Given the description of an element on the screen output the (x, y) to click on. 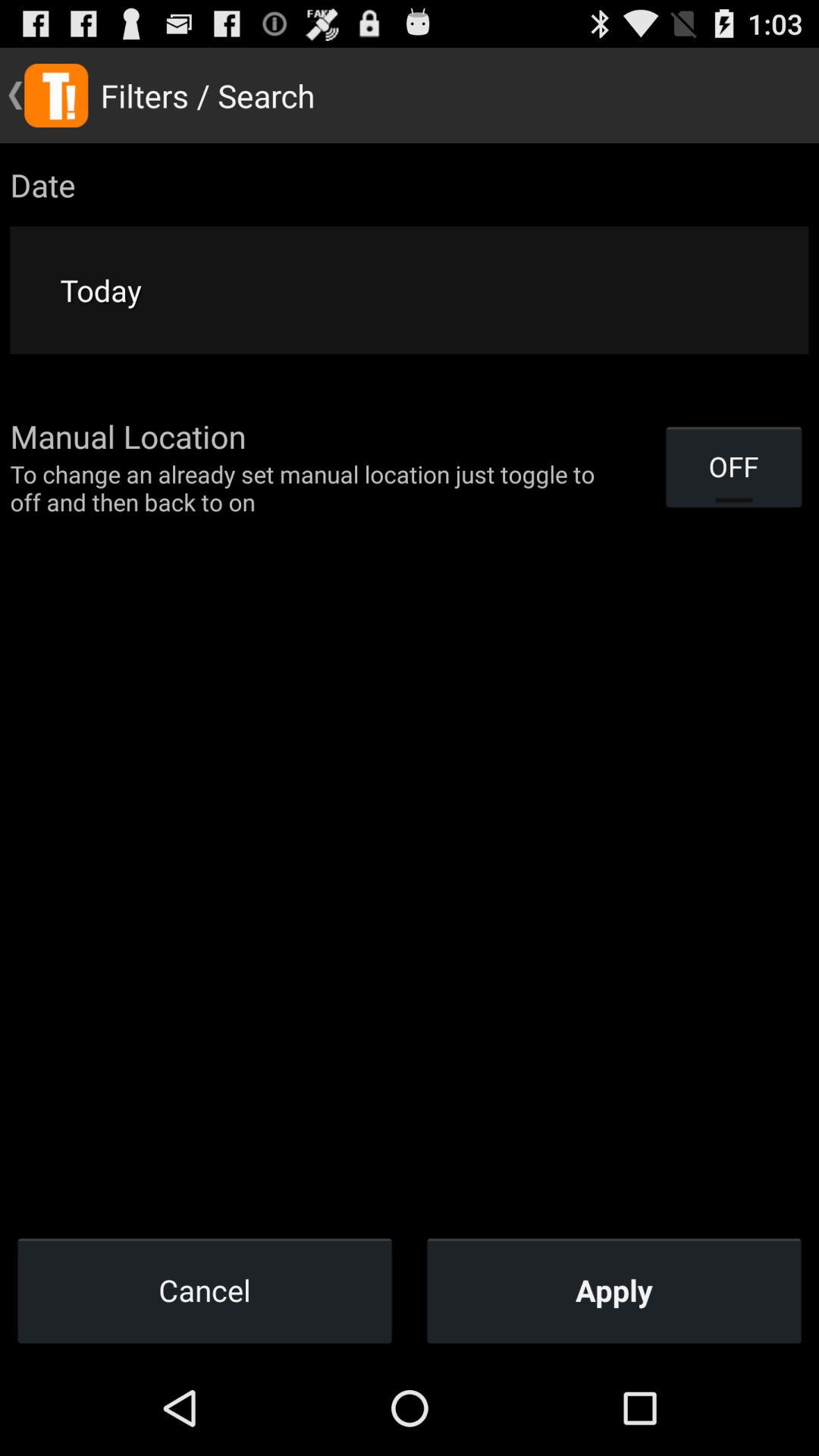
open the button at the bottom left corner (204, 1290)
